Given the description of an element on the screen output the (x, y) to click on. 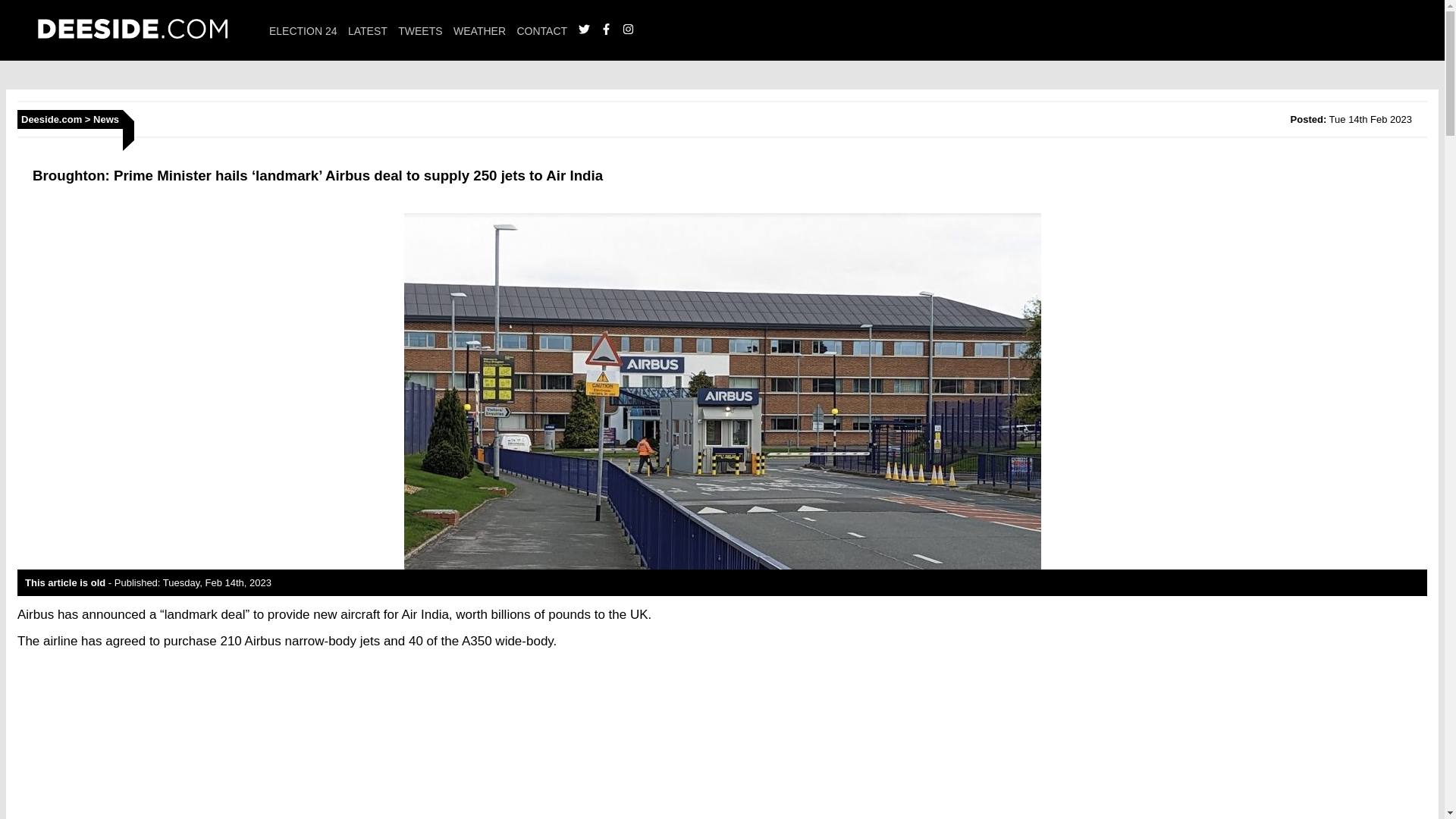
CONTACT (541, 30)
LATEST (367, 30)
TWEETS (419, 30)
ELECTION 24 (302, 30)
WEATHER (478, 30)
